Given the description of an element on the screen output the (x, y) to click on. 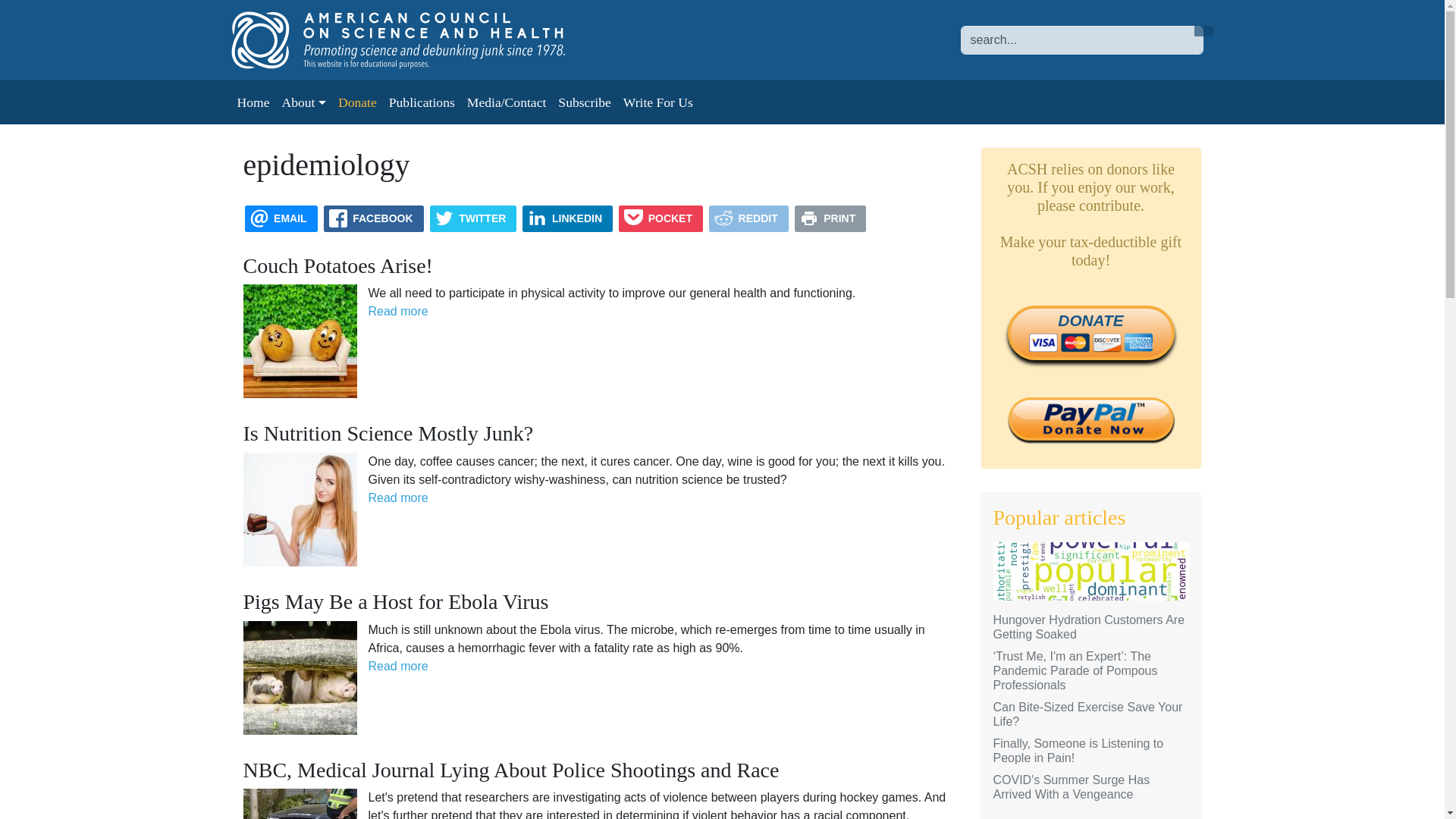
Expand menu About (303, 101)
LINKEDIN (567, 218)
REDDIT (749, 218)
Write For Us (657, 101)
Home (413, 39)
Subscribe (583, 101)
Read more (398, 666)
PRINT (830, 218)
Home (252, 101)
POCKET (660, 218)
